Given the description of an element on the screen output the (x, y) to click on. 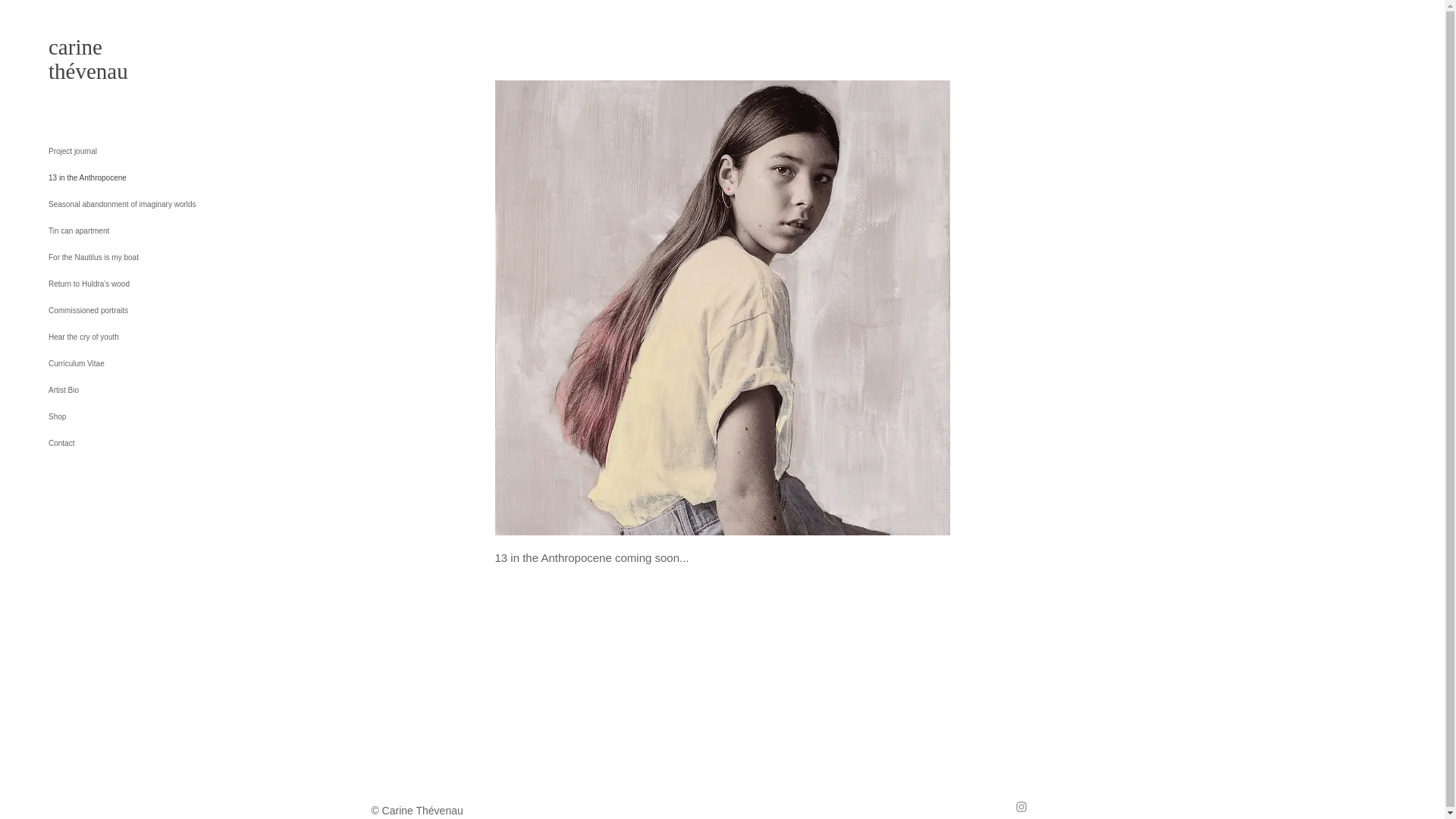
13 in the Anthropocene (152, 177)
carine (74, 46)
Project journal (152, 151)
For the Nautilus is my boat (152, 257)
Curriculum Vitae (152, 363)
Commissioned portraits (152, 310)
Return to Huldra's wood (152, 284)
Artist Bio (152, 389)
Shop (152, 416)
Hear the cry of youth (152, 336)
